Given the description of an element on the screen output the (x, y) to click on. 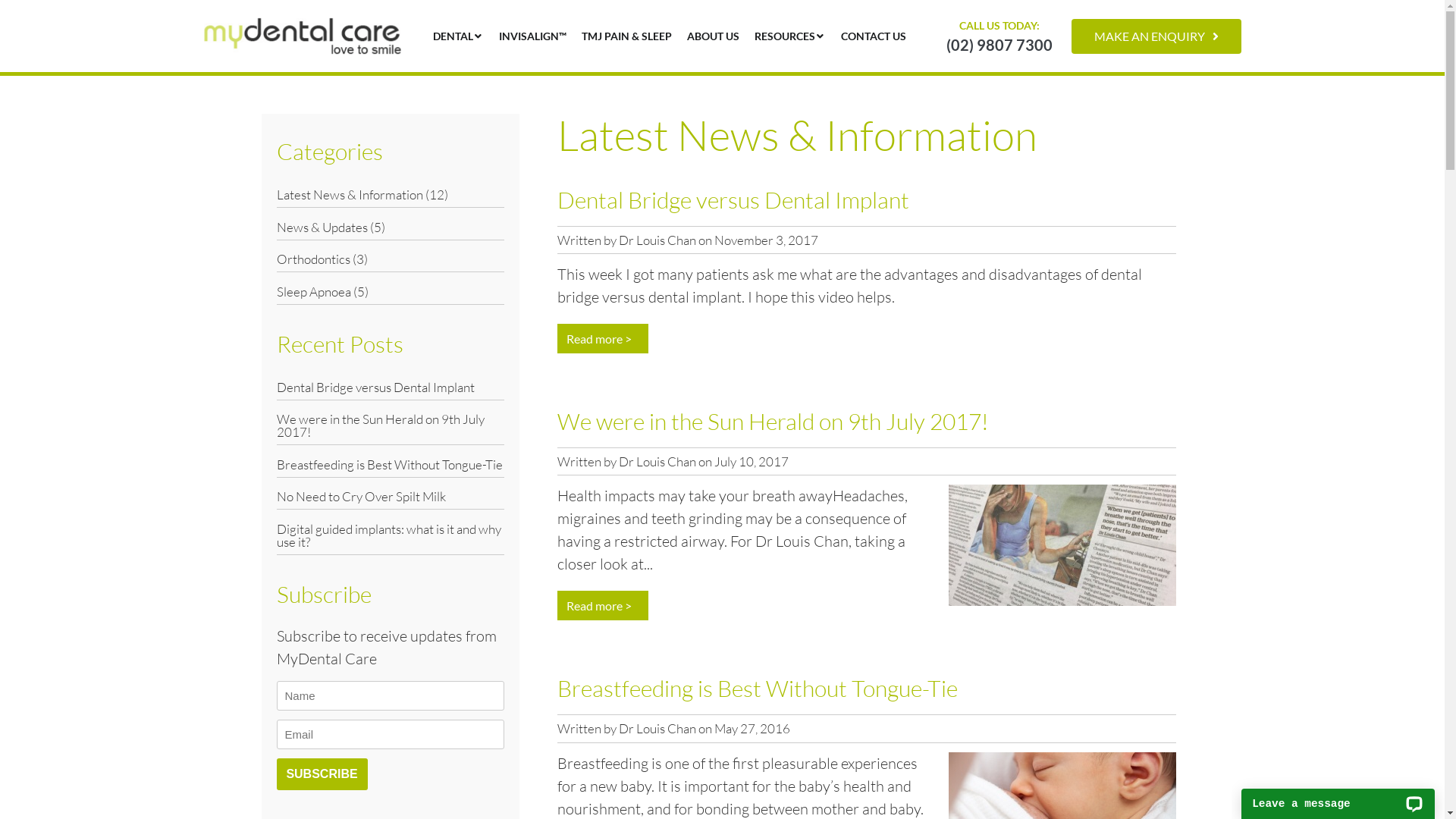
No Need to Cry Over Spilt Milk Element type: text (360, 496)
ABOUT US Element type: text (713, 35)
We were in the Sun Herald on 9th July 2017! Element type: text (379, 425)
Digital guided implants: what is it and why use it? Element type: text (388, 534)
Read more > Element type: text (601, 338)
Dental Bridge versus Dental Implant Element type: text (374, 387)
RESOURCES Element type: text (783, 35)
Dental Bridge versus Dental Implant Element type: text (732, 199)
News & Updates Element type: text (321, 226)
Breastfeeding is Best Without Tongue-Tie Element type: text (756, 688)
CALL US TODAY:
(02) 9807 7300 Element type: text (998, 35)
We were in the Sun Herald on 9th July 2017! Element type: text (772, 421)
Subscribe Element type: text (321, 774)
Orthodontics Element type: text (312, 258)
MAKE AN ENQUIRY Element type: text (1155, 35)
CONTACT US Element type: text (872, 35)
TMJ PAIN & SLEEP Element type: text (625, 35)
Breastfeeding is Best Without Tongue-Tie Element type: text (389, 464)
DENTAL Element type: text (452, 35)
Latest News & Information Element type: text (349, 194)
Sleep Apnoea Element type: text (313, 291)
Read more > Element type: text (601, 605)
